Given the description of an element on the screen output the (x, y) to click on. 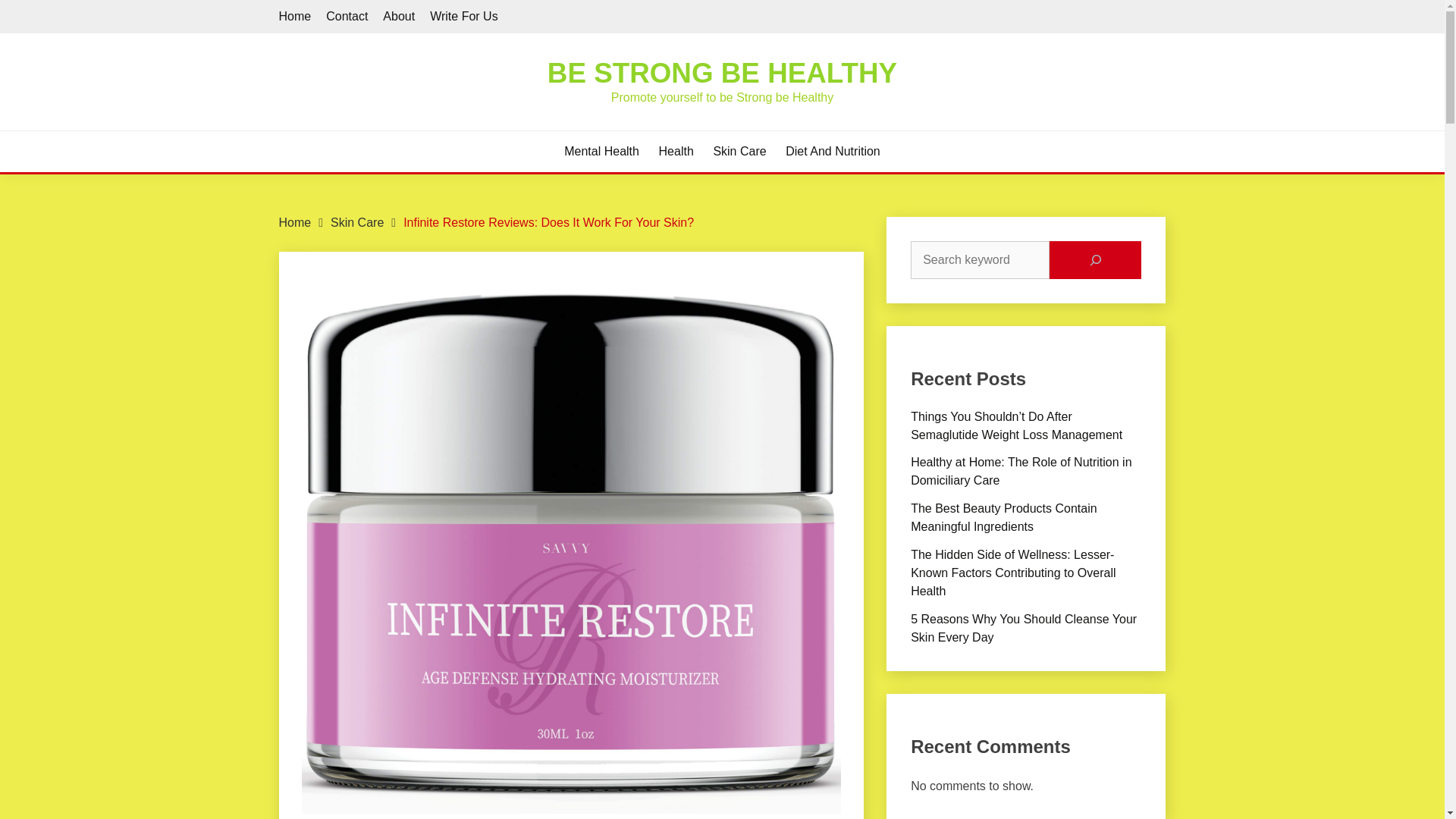
Home (295, 222)
Infinite Restore Reviews: Does It Work For Your Skin? (548, 222)
Write For Us (463, 15)
Diet And Nutrition (833, 151)
Mental Health (601, 151)
Home (295, 15)
Healthy at Home: The Role of Nutrition in Domiciliary Care (1021, 470)
Skin Care (357, 222)
About (398, 15)
